Given the description of an element on the screen output the (x, y) to click on. 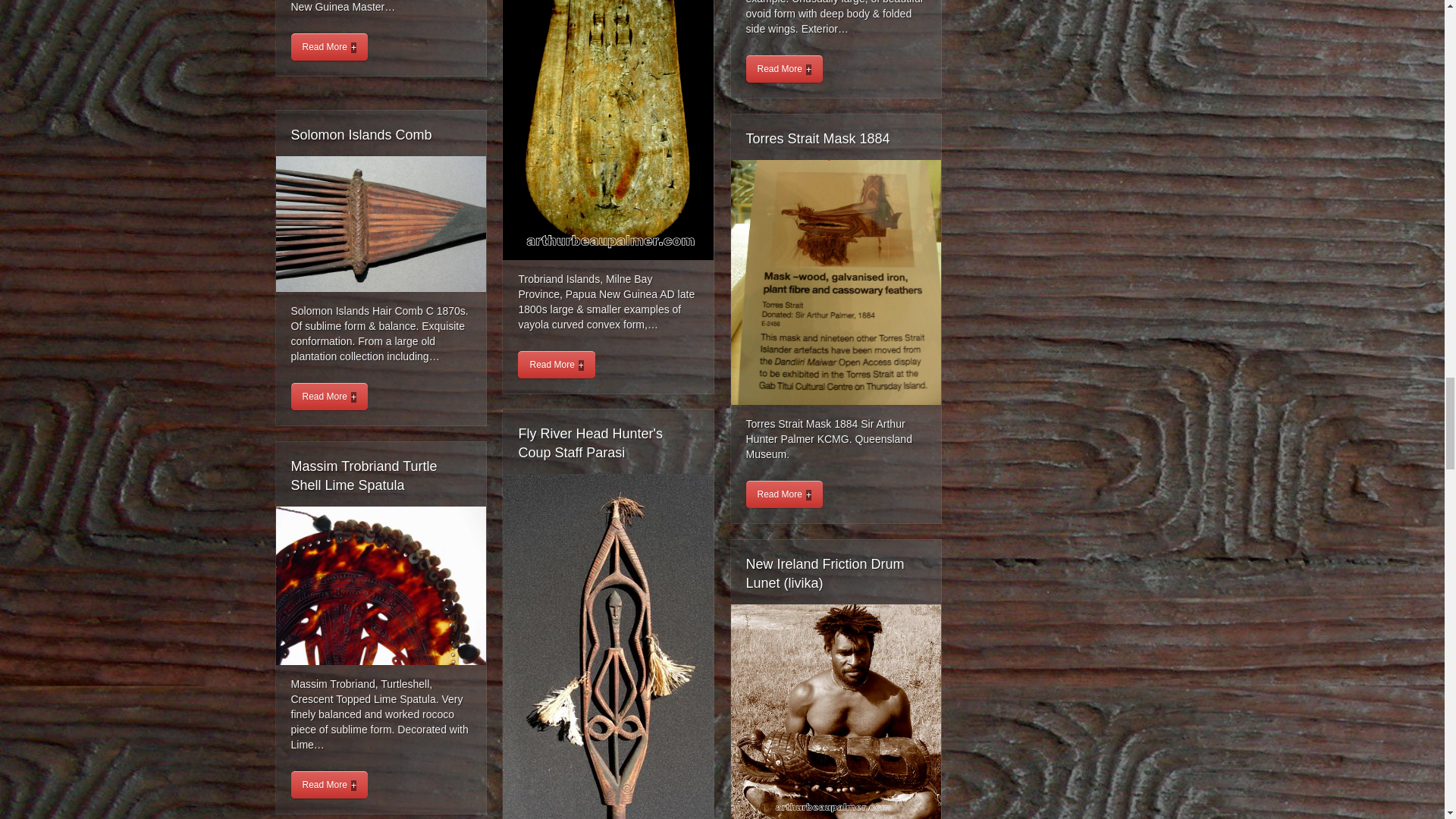
Read More (329, 46)
